Given the description of an element on the screen output the (x, y) to click on. 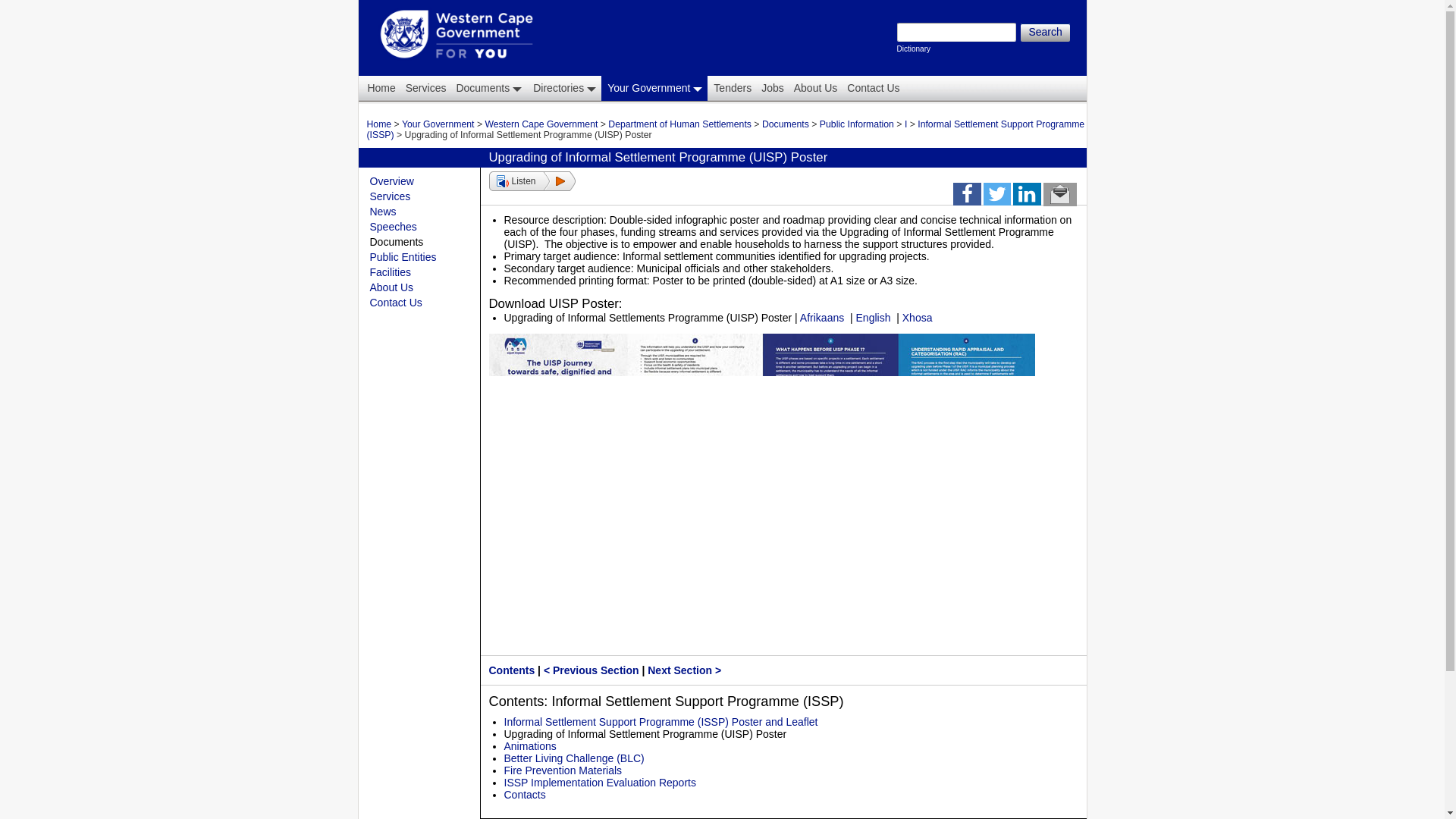
Department of Human Settlements (679, 123)
Skip to main content (691, 1)
Public Entities (402, 256)
Listen to this page using ReadSpeaker (531, 180)
Share on Linkedin (1027, 196)
 Home (378, 88)
Documents (785, 123)
Share on Twitter (997, 196)
Western Cape Government (540, 123)
Tenders (731, 88)
Overview (391, 181)
Contact Us (871, 88)
Speeches (392, 226)
Enter the terms you wish to search for. (564, 88)
